Given the description of an element on the screen output the (x, y) to click on. 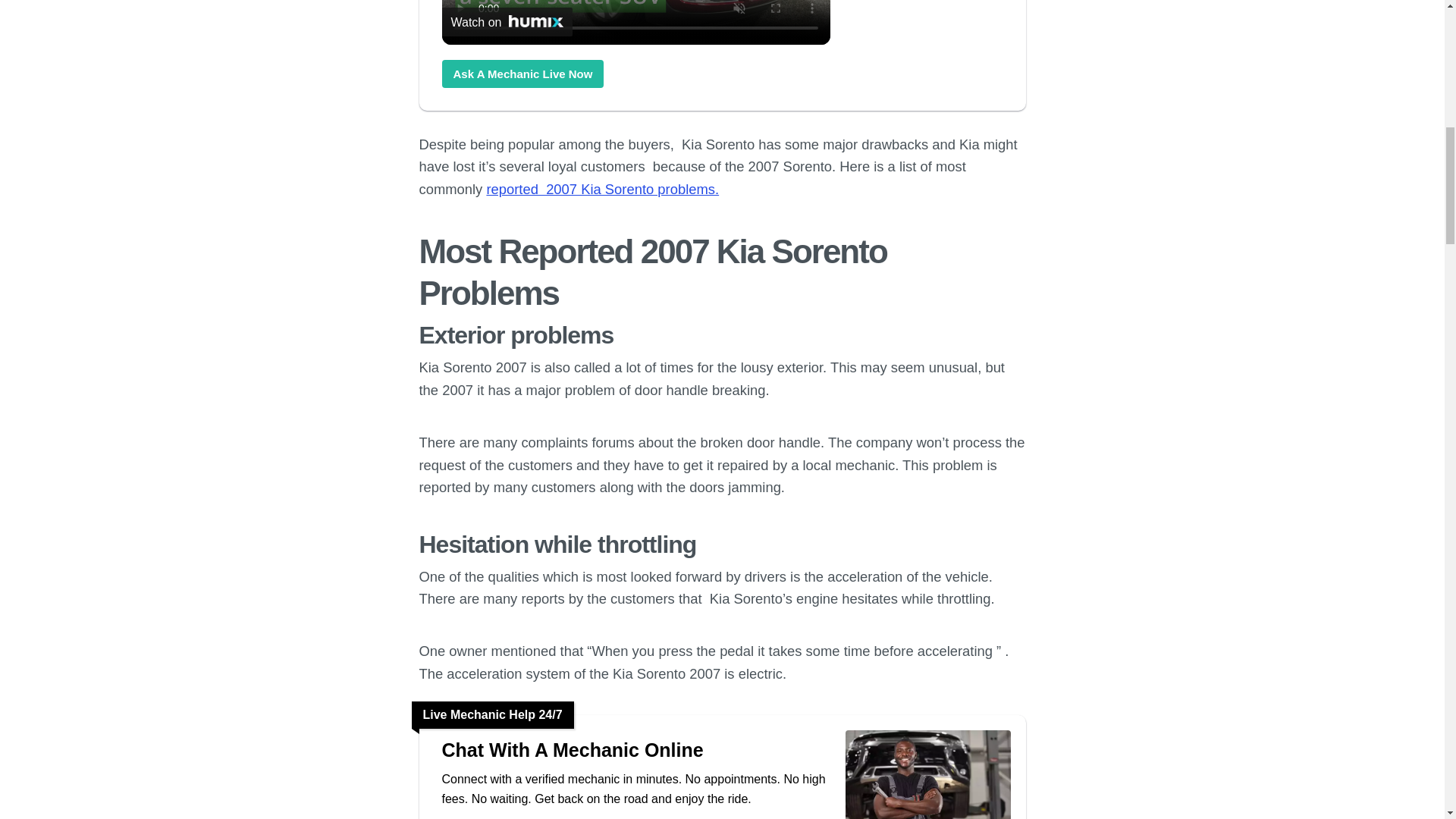
Ask A Mechanic Live Now (522, 73)
Watch on (506, 21)
Chat With A Mechanic Online (522, 73)
Chat With A Mechanic Online (635, 749)
reported  2007 Kia Sorento problems. (602, 188)
Chat With A Mechanic Online (635, 749)
